Given the description of an element on the screen output the (x, y) to click on. 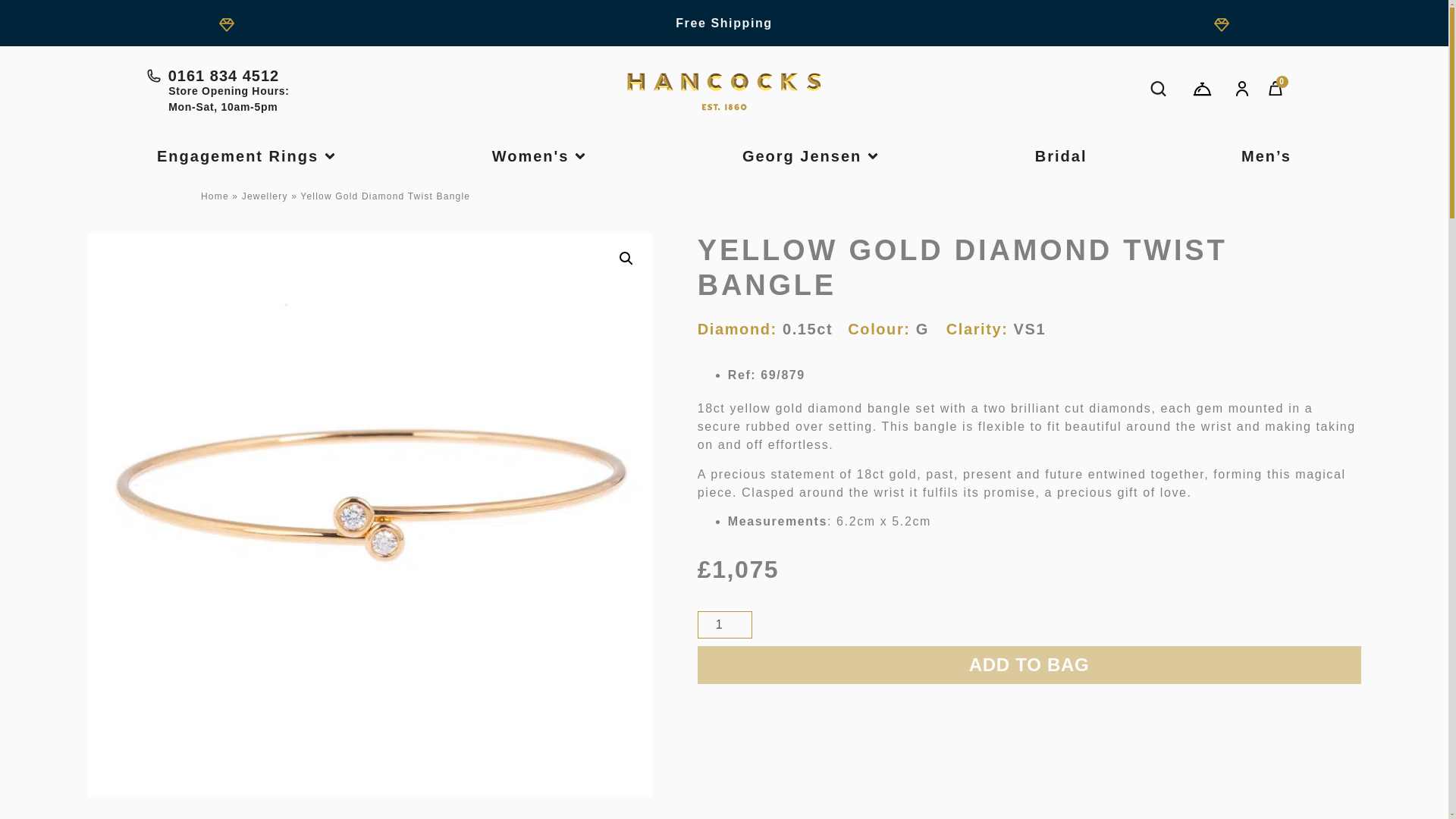
0161 834 4512 (339, 75)
1 (724, 624)
Engagement Rings (237, 156)
0 (1275, 89)
